Given the description of an element on the screen output the (x, y) to click on. 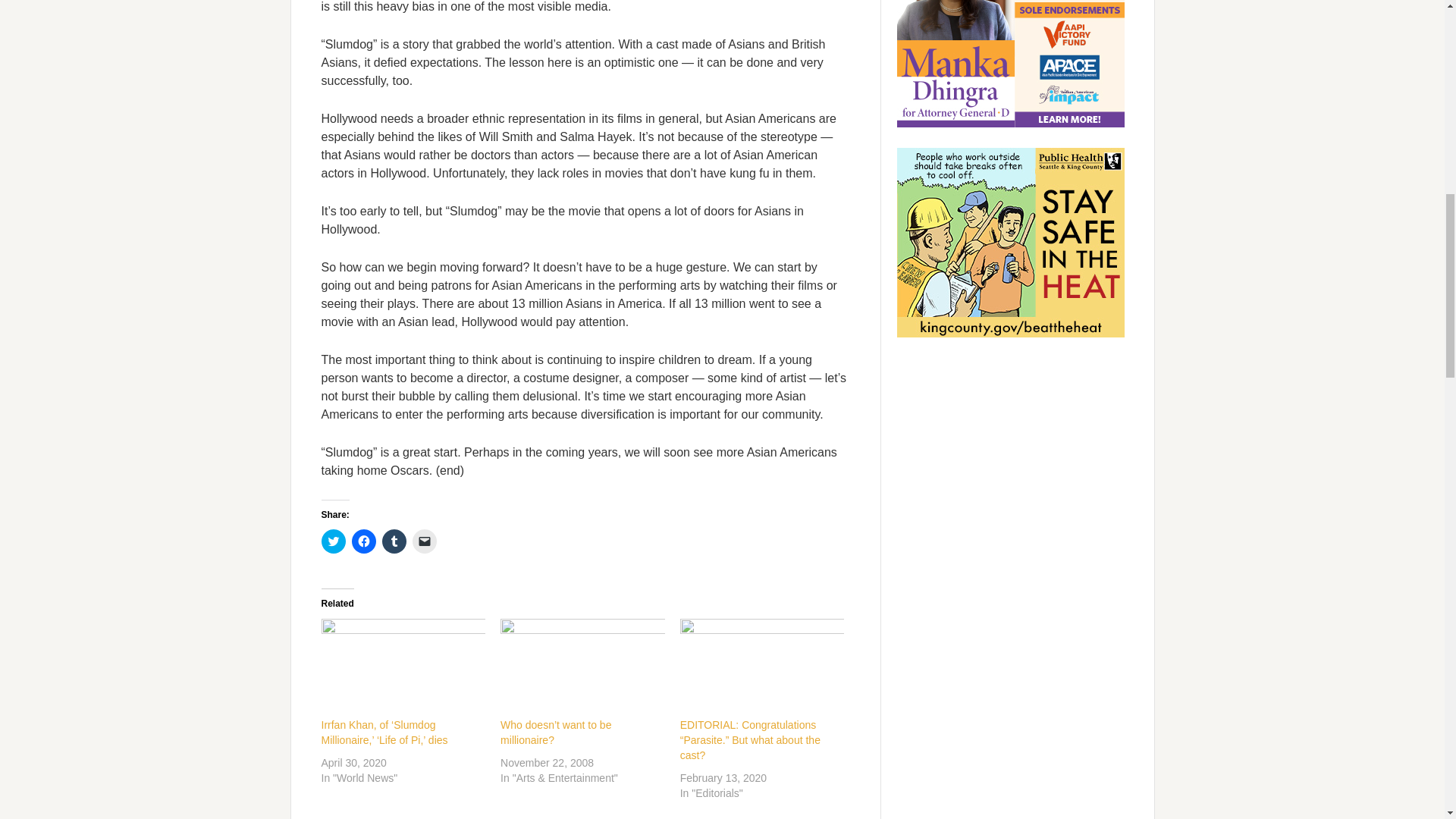
Click to share on Twitter (333, 541)
Click to share on Facebook (363, 541)
Click to share on Tumblr (393, 541)
Click to email a link to a friend (424, 541)
